Given the description of an element on the screen output the (x, y) to click on. 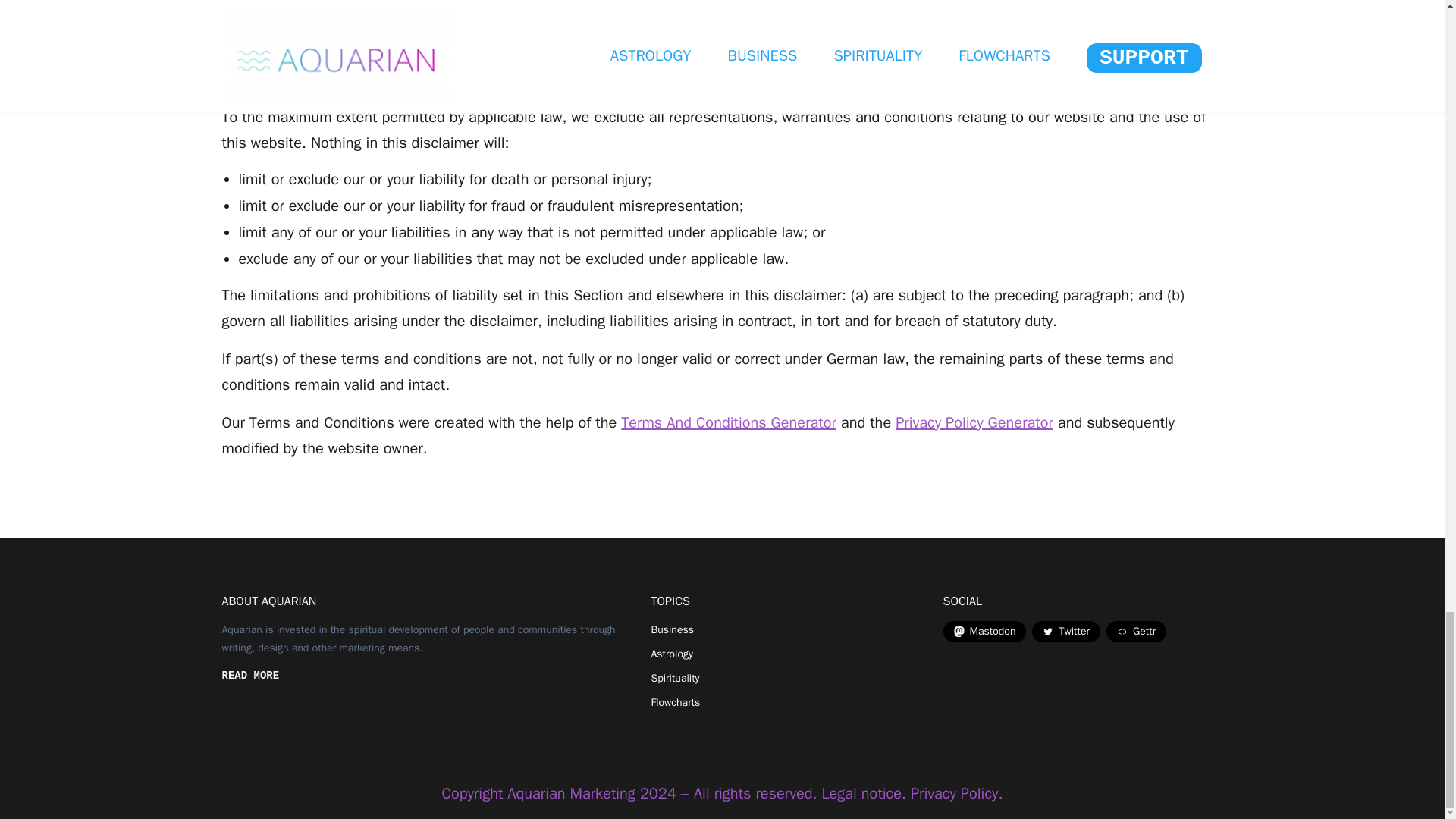
Twitter (1066, 631)
Gettr (1136, 631)
READ MORE (250, 675)
Flowcharts (675, 702)
Privacy Policy (954, 793)
Business (671, 629)
Spirituality (674, 678)
Legal notice (861, 793)
Astrology (671, 654)
Privacy Policy Generator (973, 422)
